Given the description of an element on the screen output the (x, y) to click on. 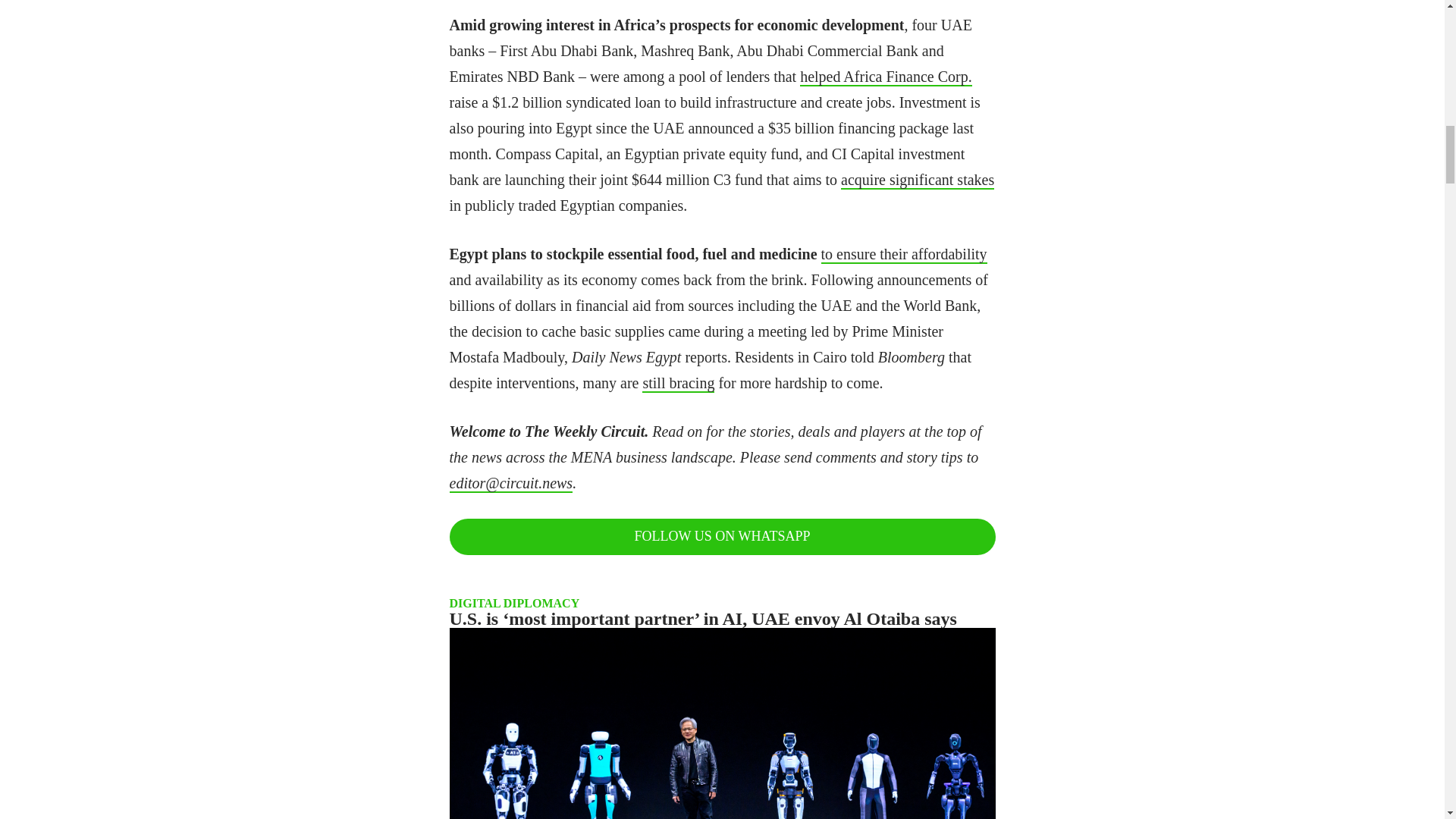
FOLLOW US ON WHATSAPP (721, 536)
acquire significant stakes (917, 180)
to ensure their affordability (904, 254)
helped Africa Finance Corp. (885, 76)
still bracing (678, 383)
